Given the description of an element on the screen output the (x, y) to click on. 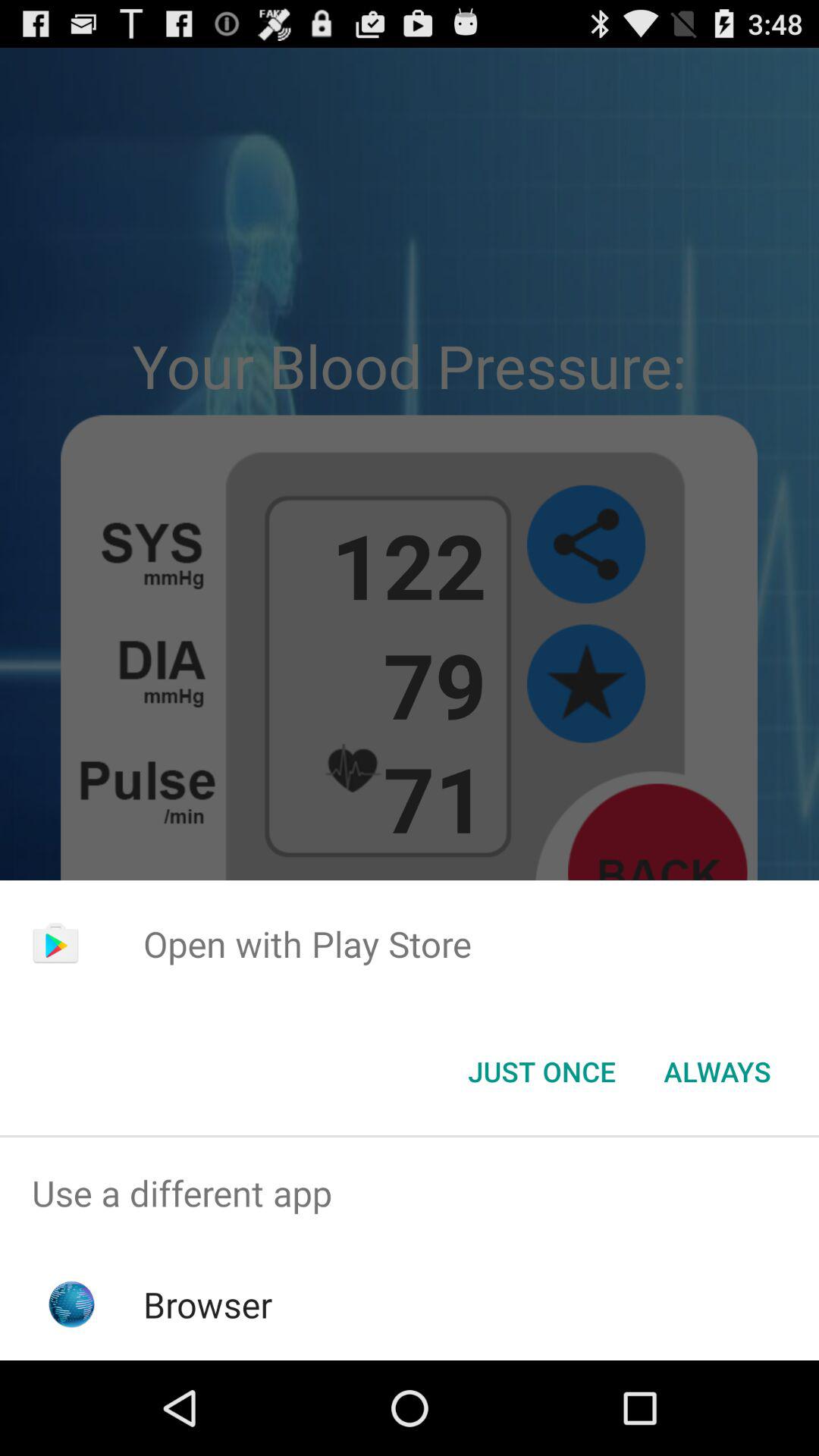
select the icon below the use a different icon (207, 1304)
